Given the description of an element on the screen output the (x, y) to click on. 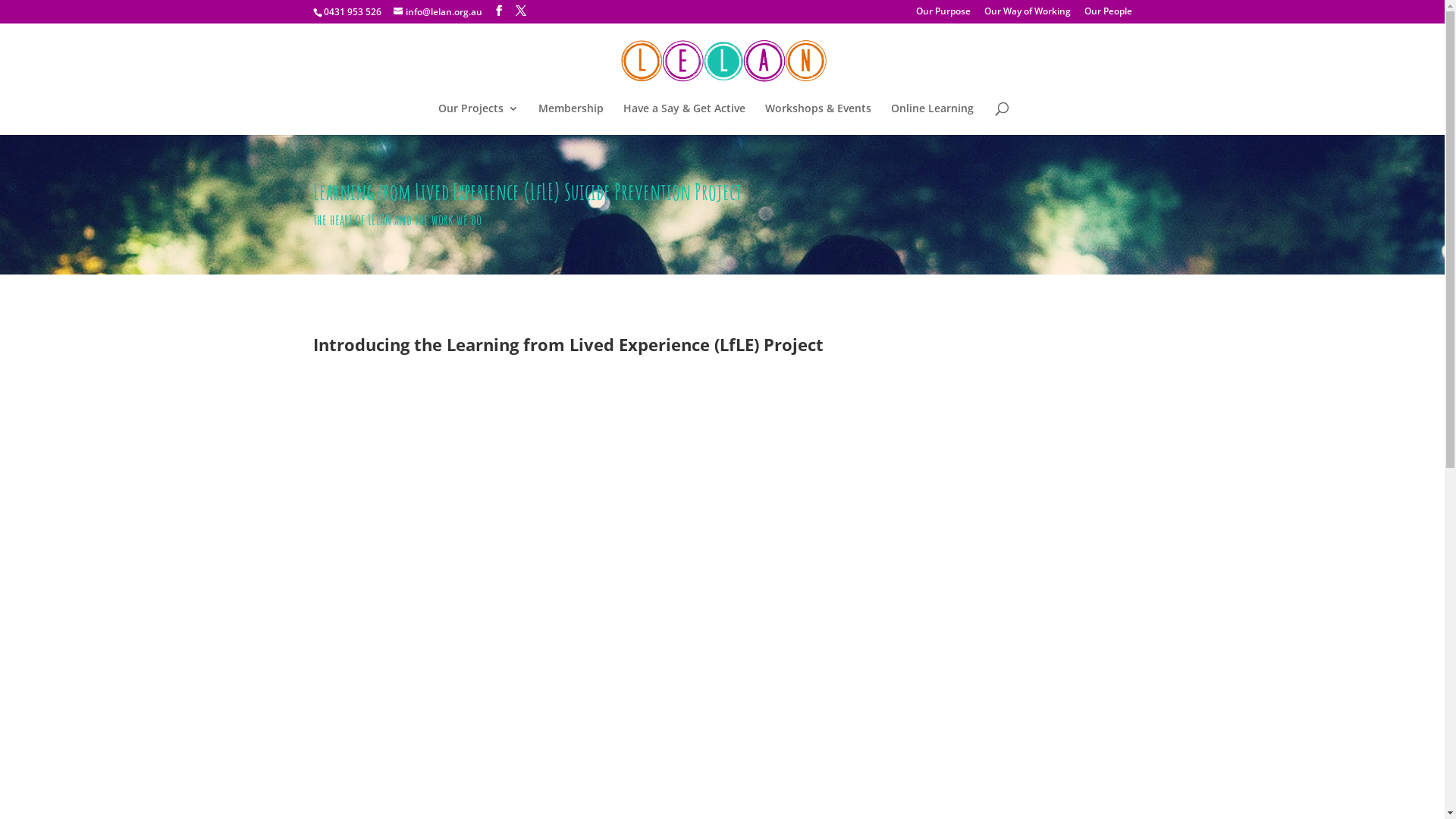
Have a Say & Get Active Element type: text (684, 118)
Online Learning Element type: text (931, 118)
Our People Element type: text (1108, 14)
Our Purpose Element type: text (943, 14)
Our Projects Element type: text (478, 118)
Workshops & Events Element type: text (817, 118)
info@lelan.org.au Element type: text (436, 11)
Membership Element type: text (570, 118)
Our Way of Working Element type: text (1027, 14)
